Given the description of an element on the screen output the (x, y) to click on. 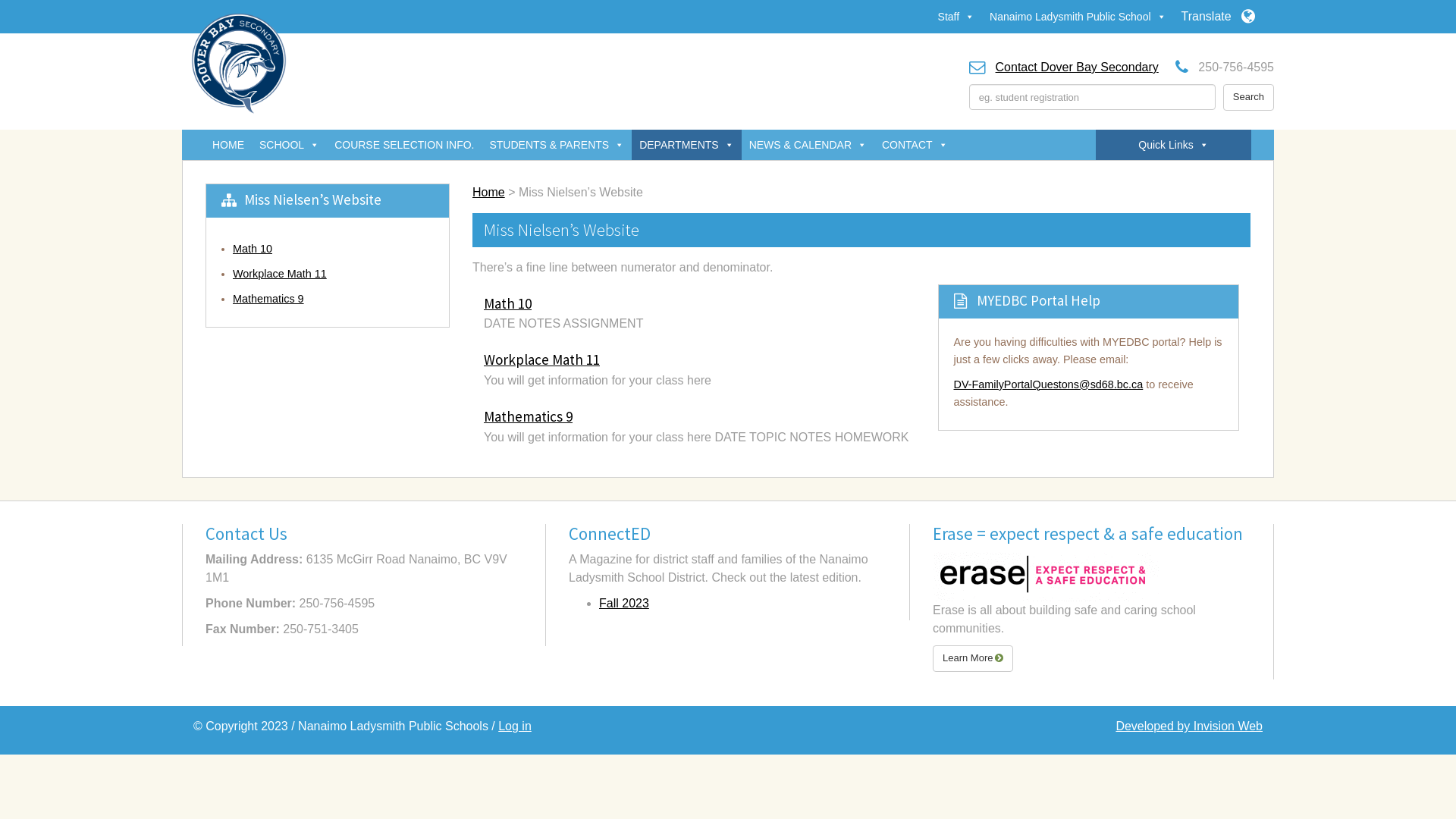
COURSE SELECTION INFO. Element type: text (403, 144)
Workplace Math 11 Element type: text (541, 359)
Math 10 Element type: text (252, 248)
NEWS & CALENDAR Element type: text (807, 144)
Staff Element type: text (956, 16)
Nanaimo Ladysmith Public School Element type: text (1077, 16)
STUDENTS & PARENTS Element type: text (556, 144)
Mathematics 9 Element type: text (527, 416)
Workplace Math 11 Element type: text (279, 273)
Contact Dover Bay Secondary Element type: text (1076, 66)
Quick Links Element type: text (1172, 144)
SCHOOL Element type: text (288, 144)
Mathematics 9 Element type: text (268, 298)
Math 10 Element type: text (507, 303)
Home Element type: text (488, 191)
CONTACT Element type: text (914, 144)
Developed by Invision Web Element type: text (1188, 725)
Search Element type: text (1248, 97)
Learn More Element type: text (972, 658)
DV-FamilyPortalQuestons@sd68.bc.ca Element type: text (1048, 384)
Translate   Element type: text (1218, 16)
DEPARTMENTS Element type: text (686, 144)
Log in Element type: text (514, 725)
HOME Element type: text (227, 144)
Fall 2023 Element type: text (624, 602)
